Given the description of an element on the screen output the (x, y) to click on. 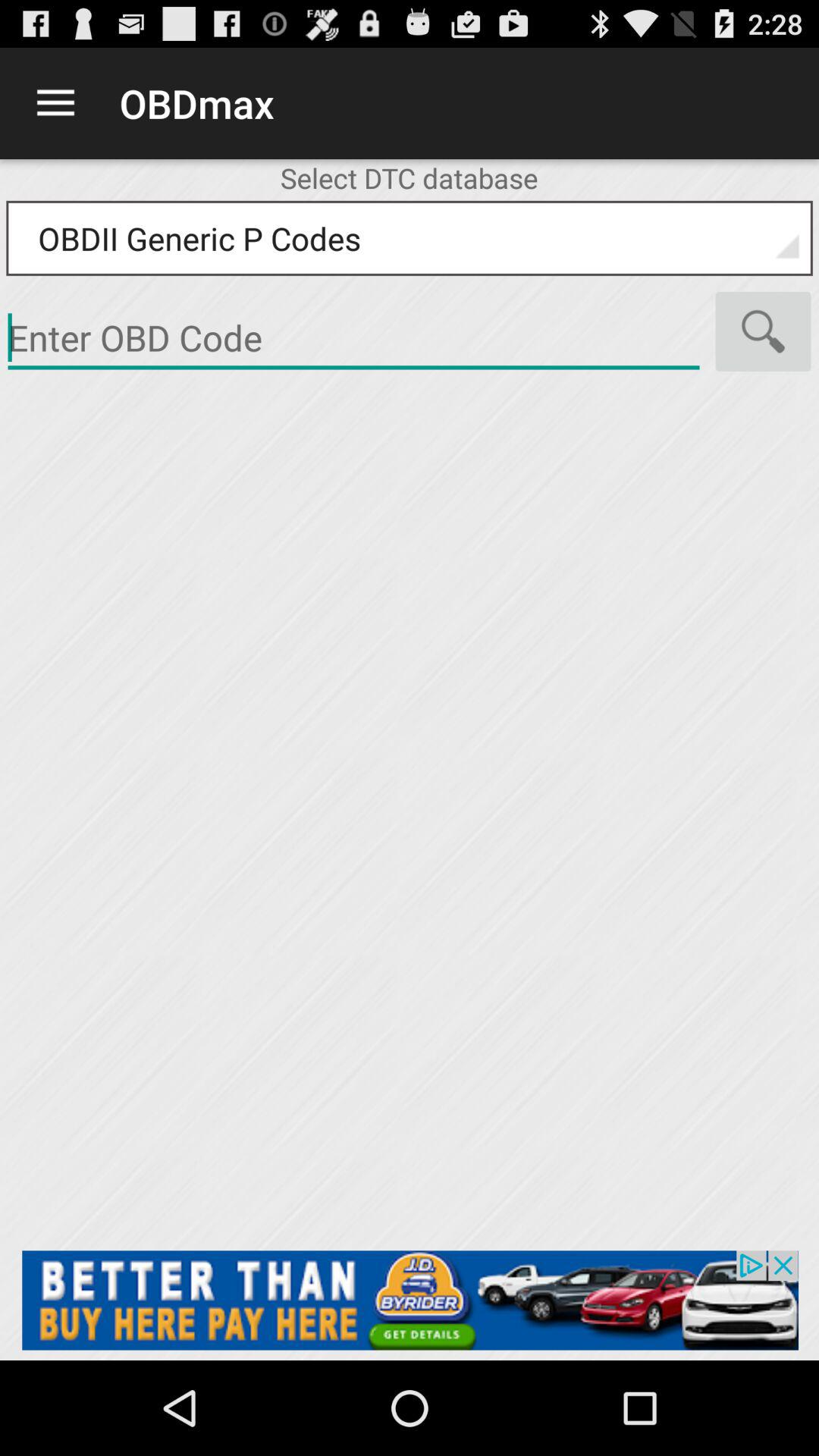
search icon (763, 331)
